Given the description of an element on the screen output the (x, y) to click on. 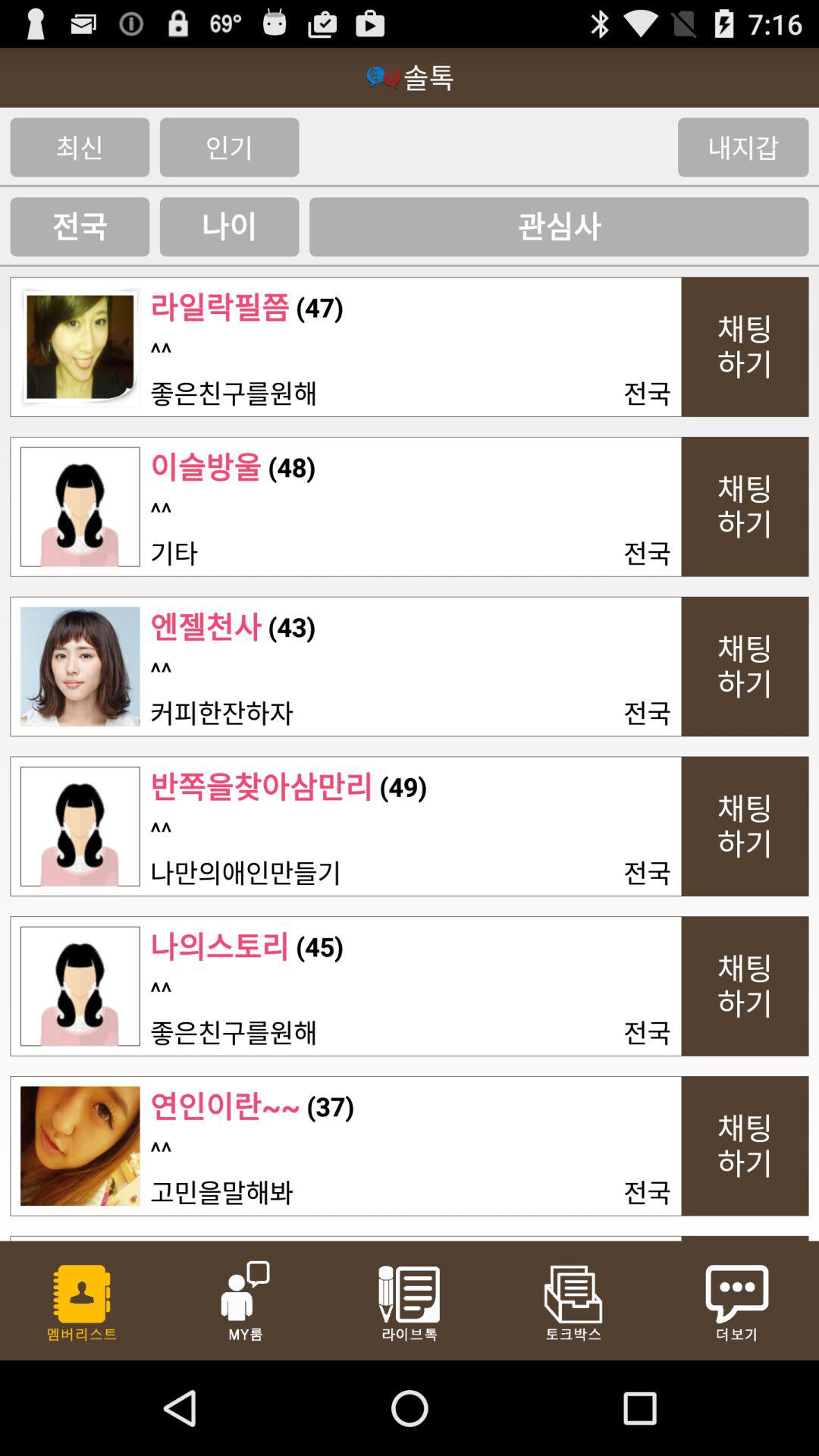
open the item below the ^^ item (233, 390)
